Given the description of an element on the screen output the (x, y) to click on. 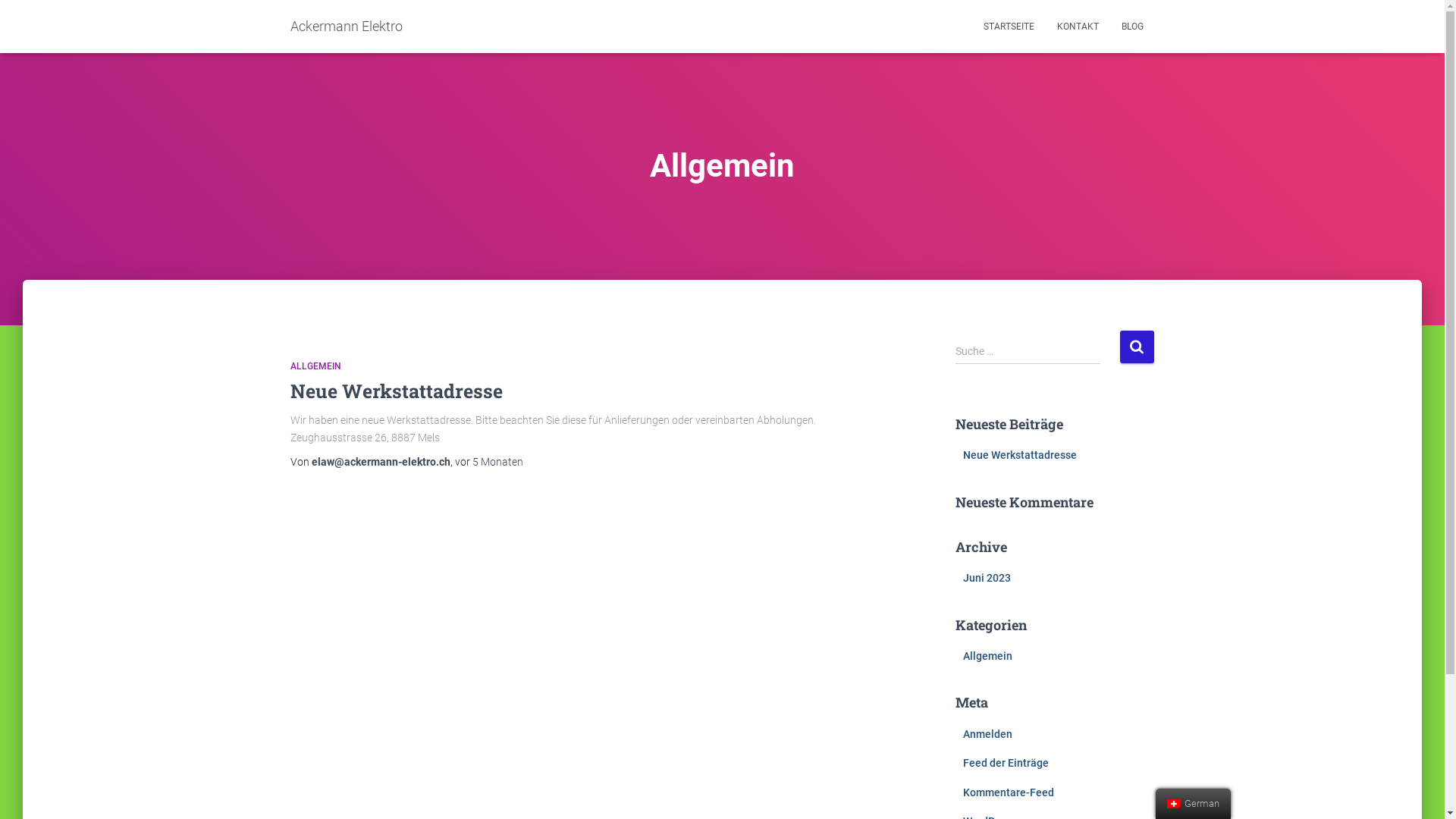
Juni 2023 Element type: text (986, 577)
Ackermann Elektro Element type: text (346, 26)
BLOG Element type: text (1132, 26)
STARTSEITE Element type: text (1008, 26)
Kommentare-Feed Element type: text (1008, 792)
ALLGEMEIN Element type: text (314, 365)
Allgemein Element type: text (987, 655)
elaw@ackermann-elektro.ch Element type: text (379, 461)
Anmelden Element type: text (987, 734)
5 Monaten Element type: text (496, 461)
Neue Werkstattadresse Element type: text (1019, 454)
Neue Werkstattadresse Element type: text (395, 390)
Suchen Element type: text (1136, 346)
German Element type: hover (1173, 803)
KONTAKT Element type: text (1076, 26)
